Given the description of an element on the screen output the (x, y) to click on. 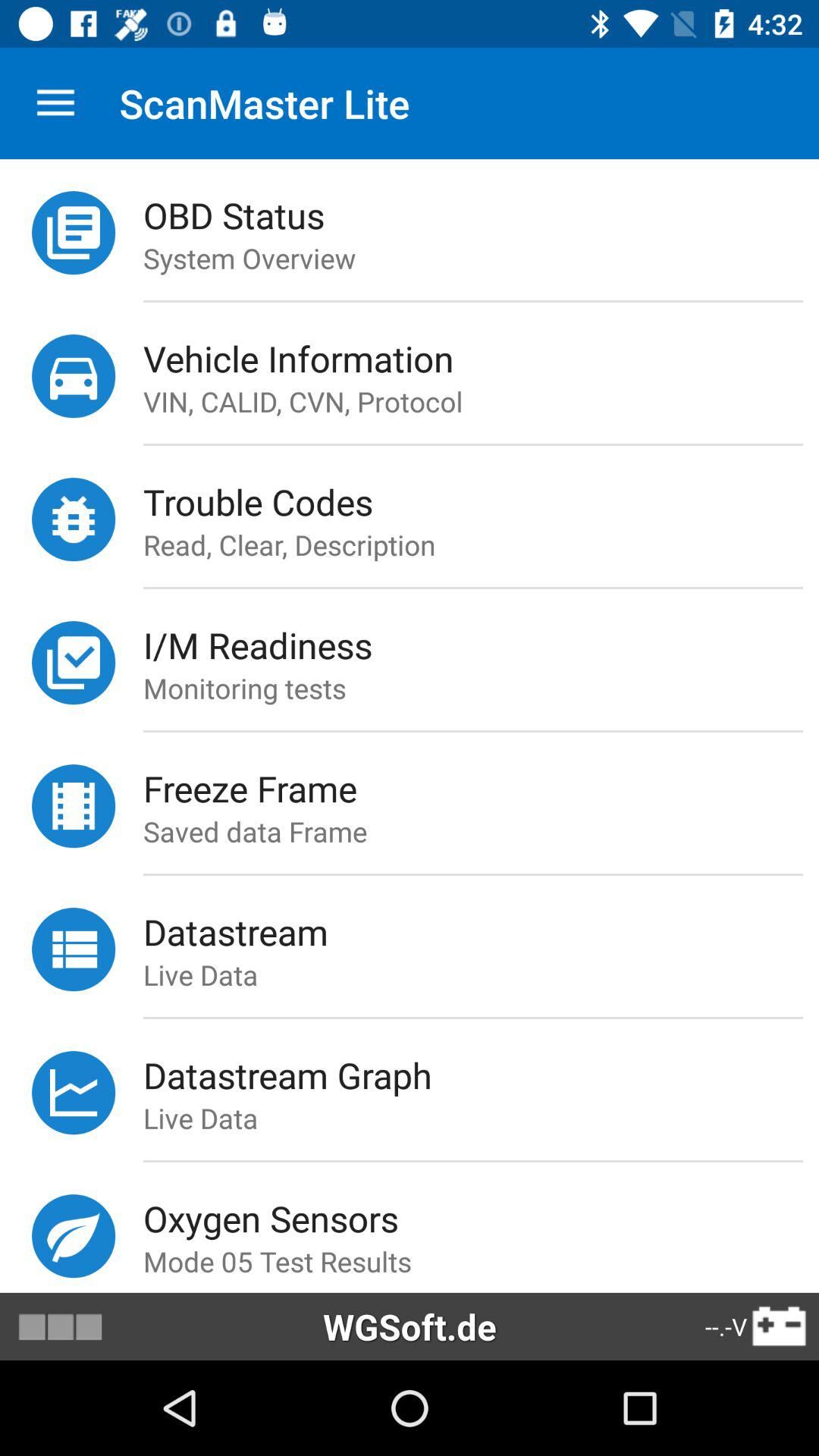
jump until system overview icon (481, 257)
